Given the description of an element on the screen output the (x, y) to click on. 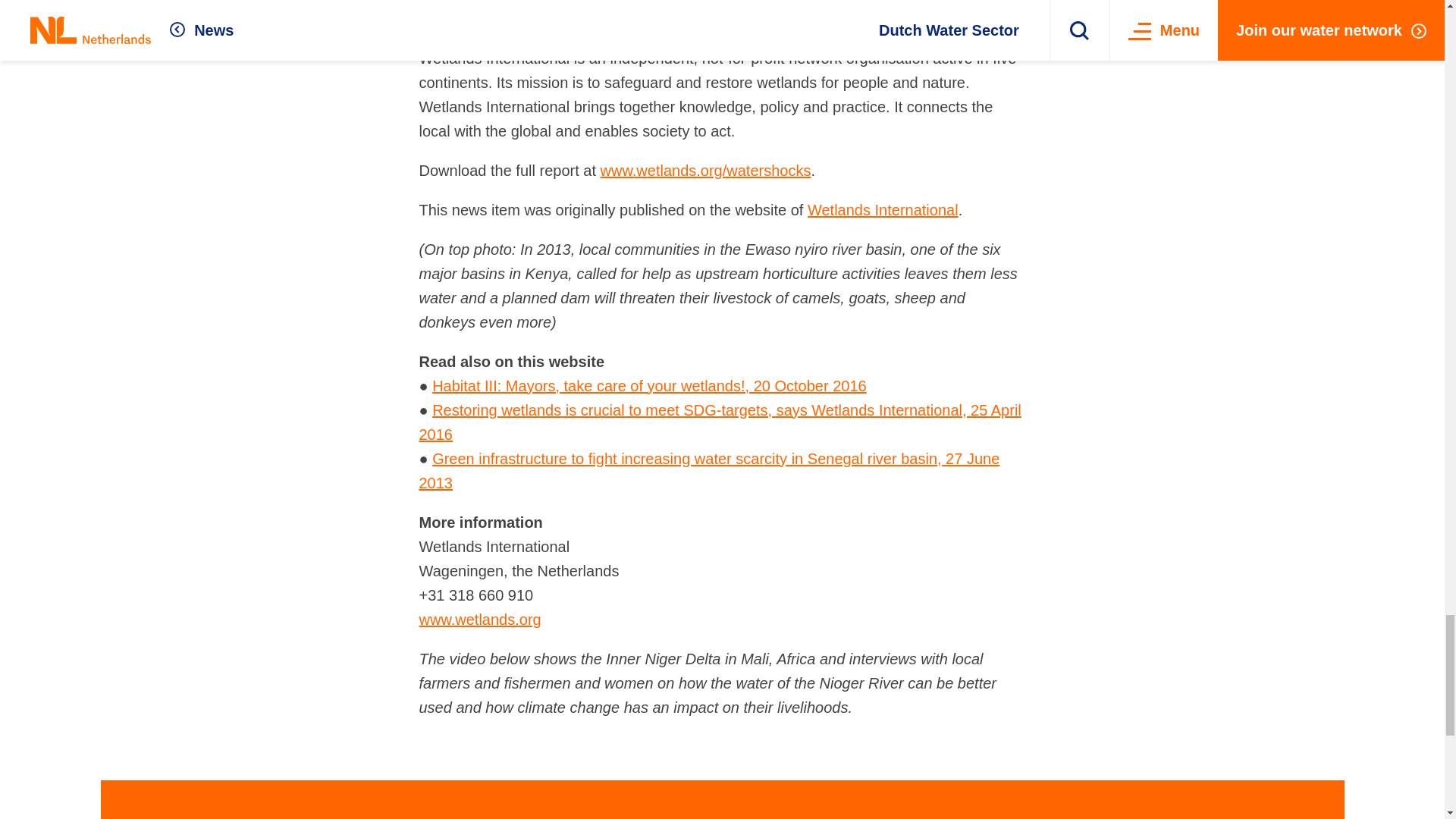
www.wetlands.org (479, 619)
Wetlands International (883, 209)
